Given the description of an element on the screen output the (x, y) to click on. 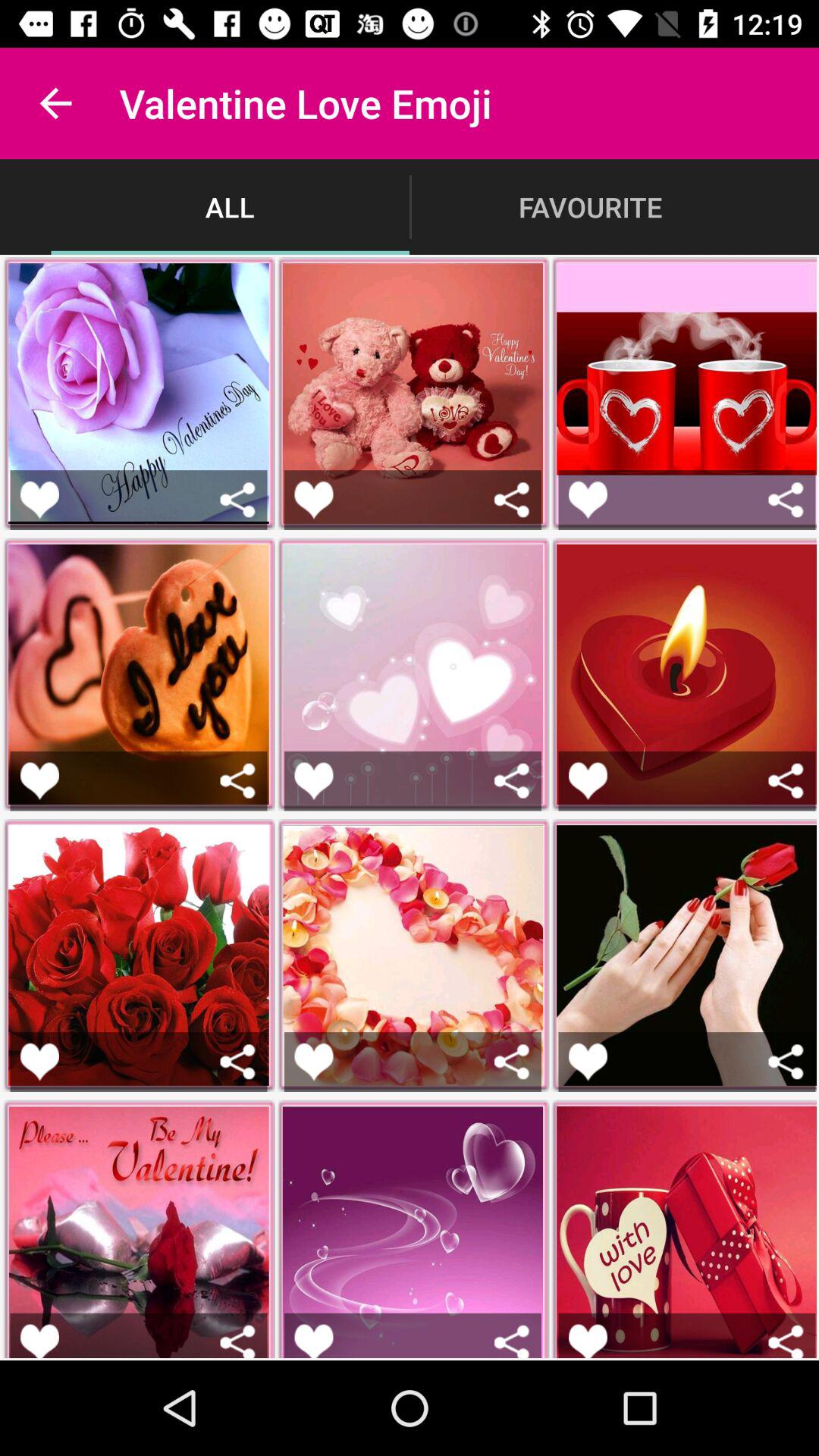
click share (511, 1340)
